Given the description of an element on the screen output the (x, y) to click on. 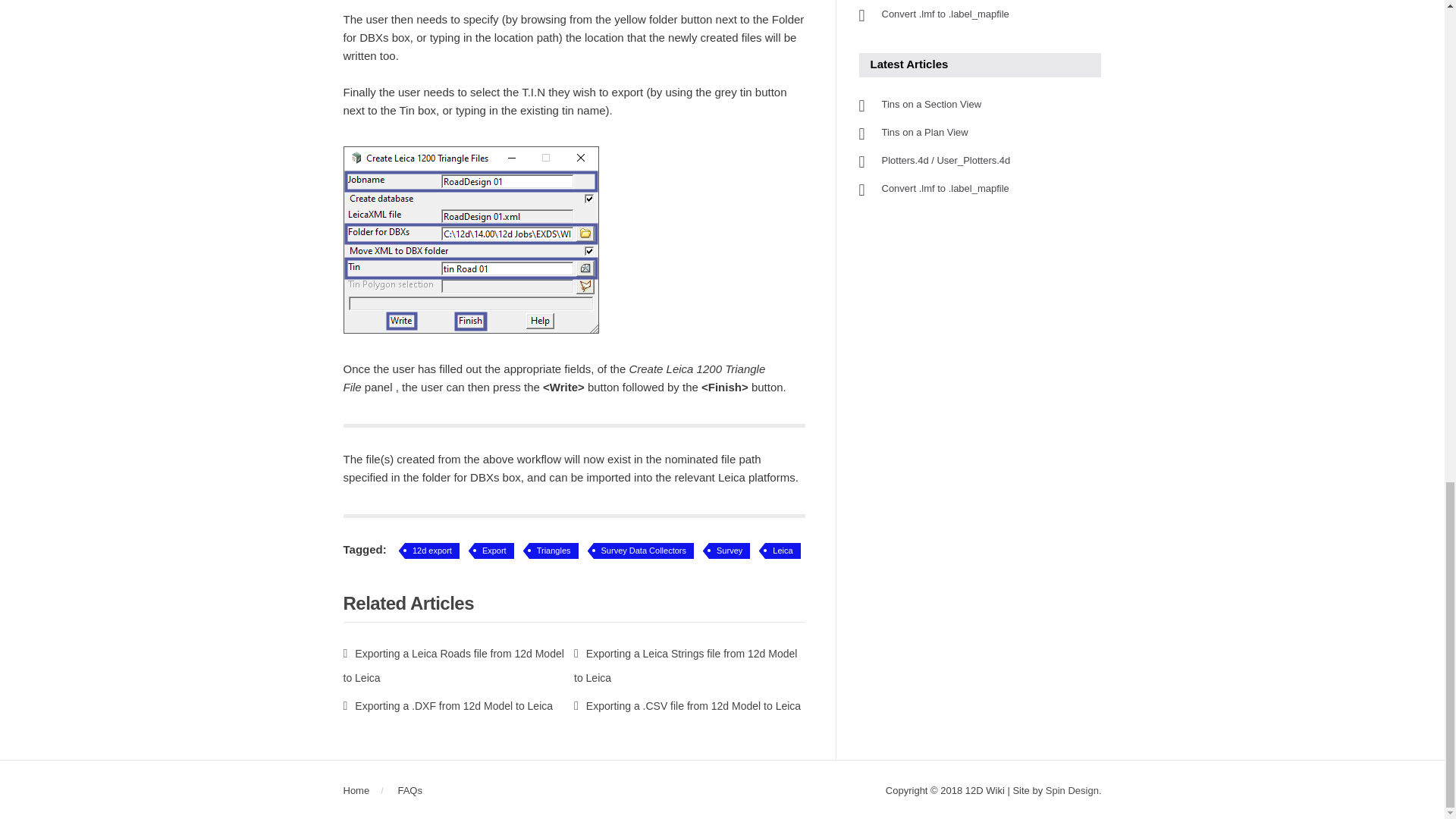
Survey (729, 550)
Exporting a .CSV file from 12d Model to Leica (686, 705)
Exporting a .CSV file from 12d Model to Leica (686, 705)
Leica (782, 550)
Survey Data Collectors (644, 550)
Exporting a .DXF from 12d Model to Leica (447, 705)
Exporting a .DXF from 12d Model to Leica (447, 705)
Exporting a Leica Roads file from 12d Model to Leica (452, 665)
Exporting a Leica Roads file from 12d Model to Leica (452, 665)
Exporting a Leica Strings file from 12d Model to Leica (684, 665)
